Given the description of an element on the screen output the (x, y) to click on. 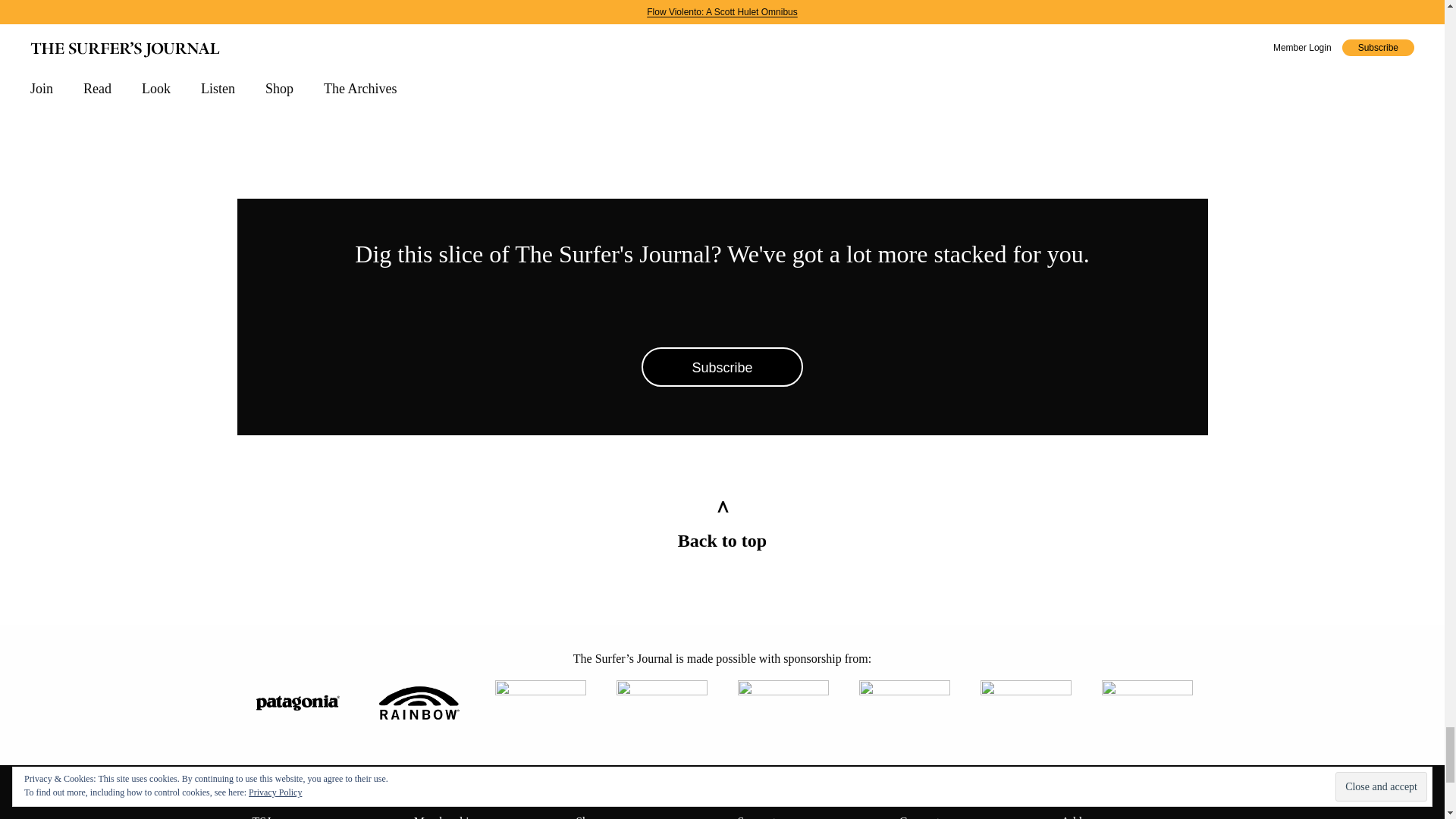
Click to share on Facebook (1038, 94)
Click to share on Twitter (1116, 94)
